Given the description of an element on the screen output the (x, y) to click on. 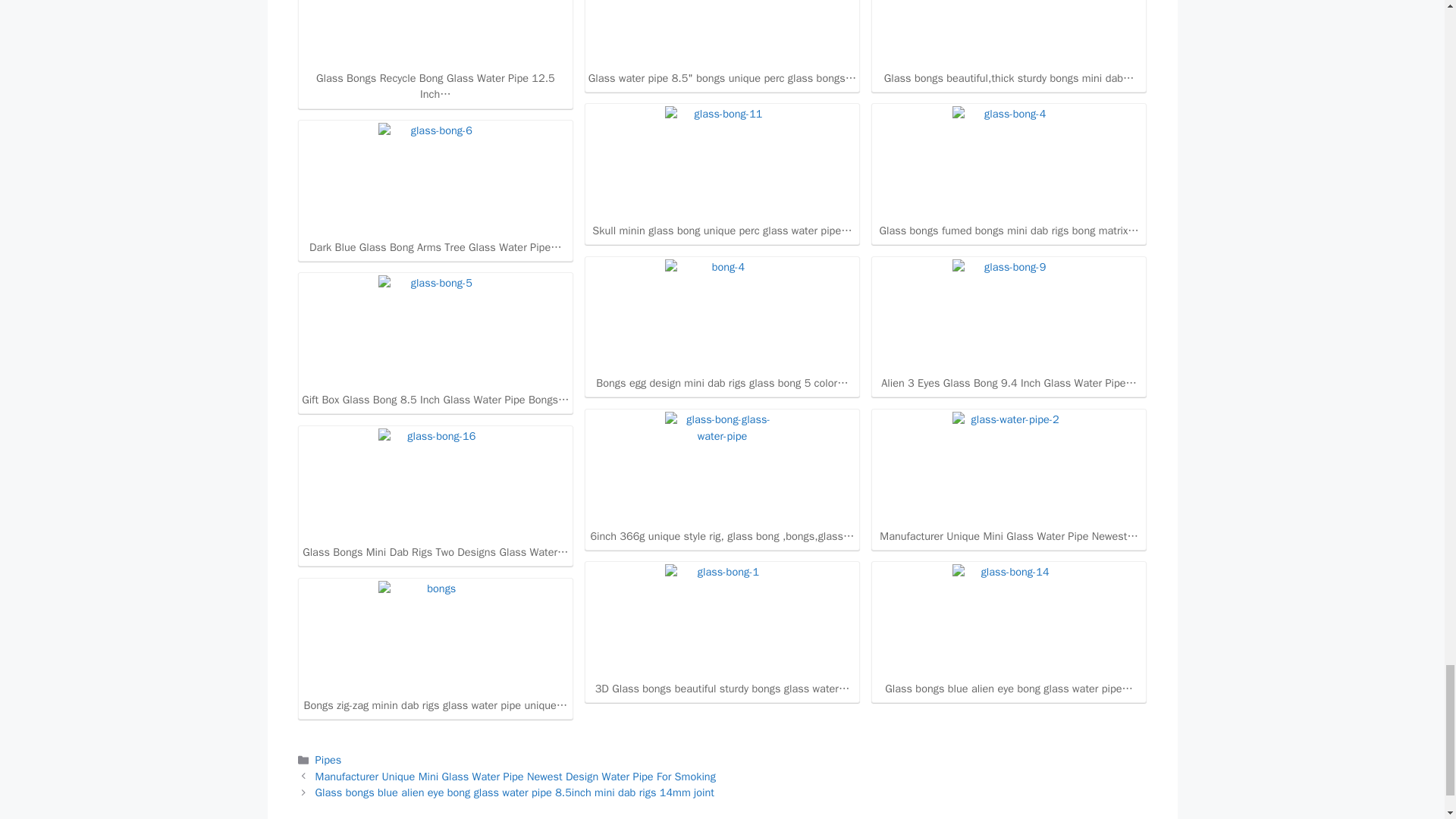
Pipes (328, 759)
